Given the description of an element on the screen output the (x, y) to click on. 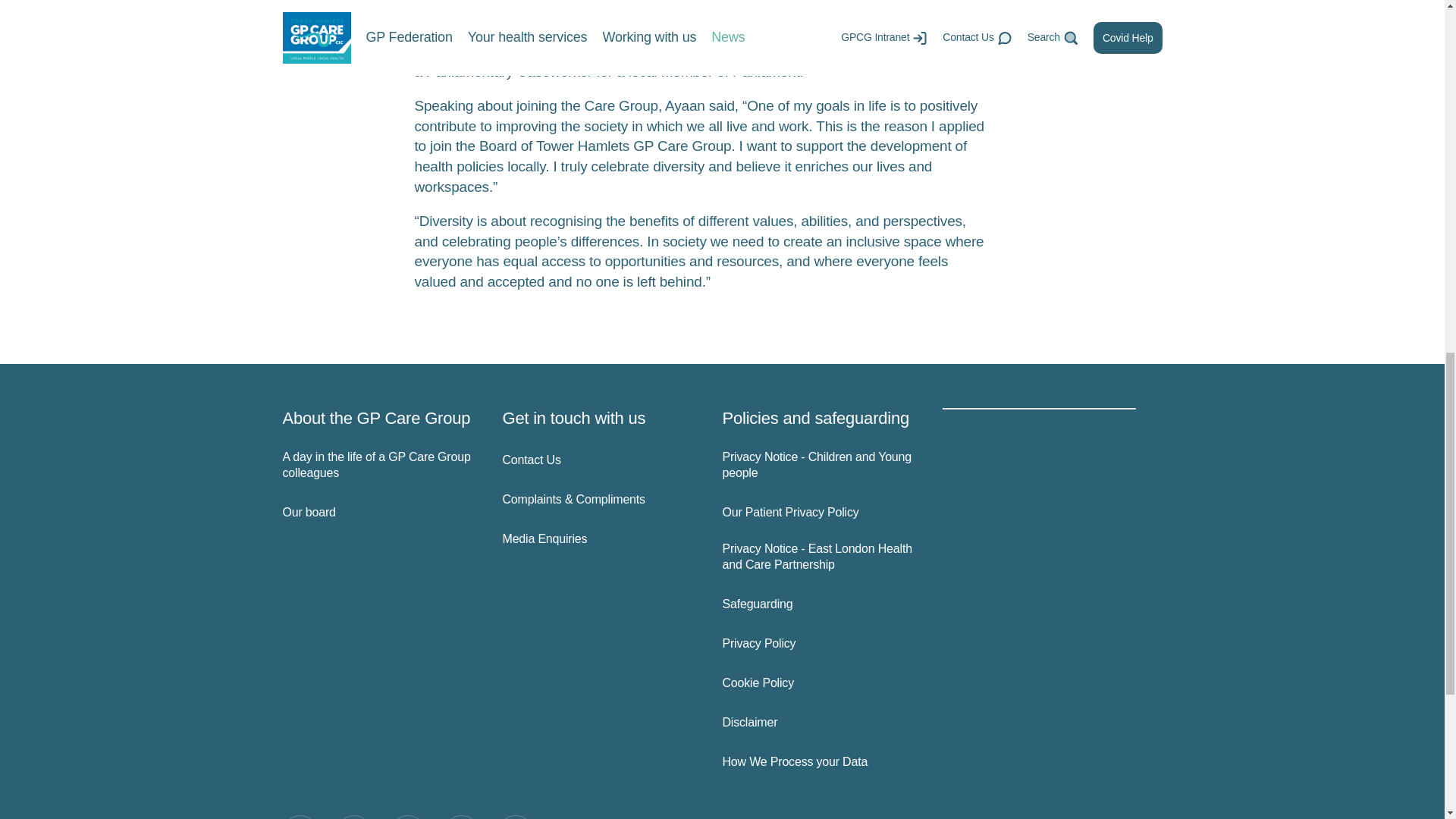
Instagram (407, 816)
How We Process your Data (818, 762)
Disclaimer (818, 722)
Facebook (299, 816)
Our board (379, 512)
LinkedIn (461, 816)
Instagram (407, 816)
A day in the life of a GP Care Group colleagues (379, 465)
Twitter (353, 816)
Media Enquiries (598, 539)
Youtube (514, 816)
Cookie Policy (818, 683)
Youtube (514, 816)
Privacy Policy (818, 643)
LinkedIn (461, 816)
